Given the description of an element on the screen output the (x, y) to click on. 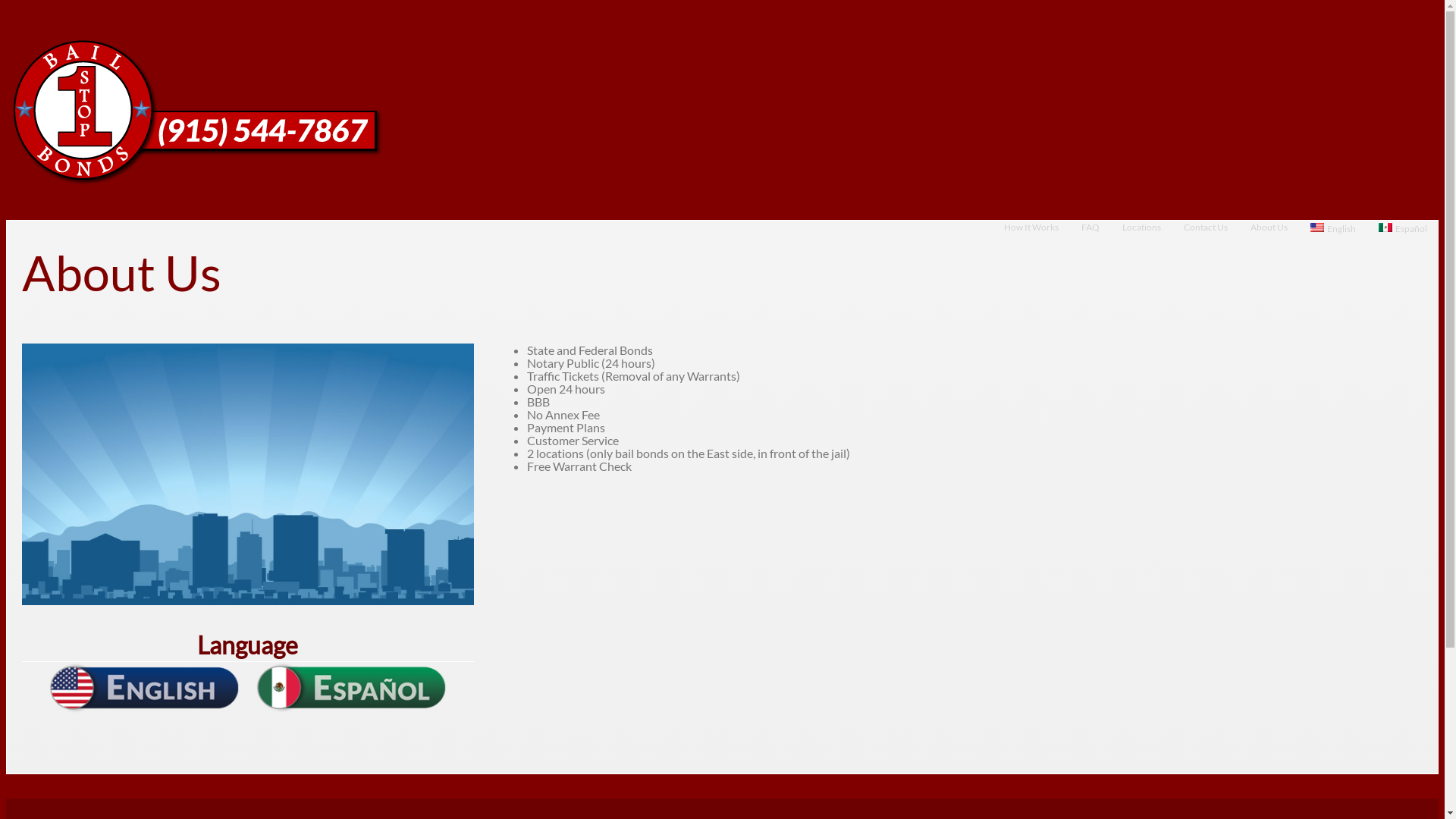
English Element type: hover (1317, 227)
English Element type: text (1333, 237)
Contact Us Element type: text (1205, 236)
About Us Element type: text (1269, 236)
FAQ Element type: text (1090, 236)
Locations Element type: text (1141, 236)
How It Works Element type: text (1031, 236)
